Given the description of an element on the screen output the (x, y) to click on. 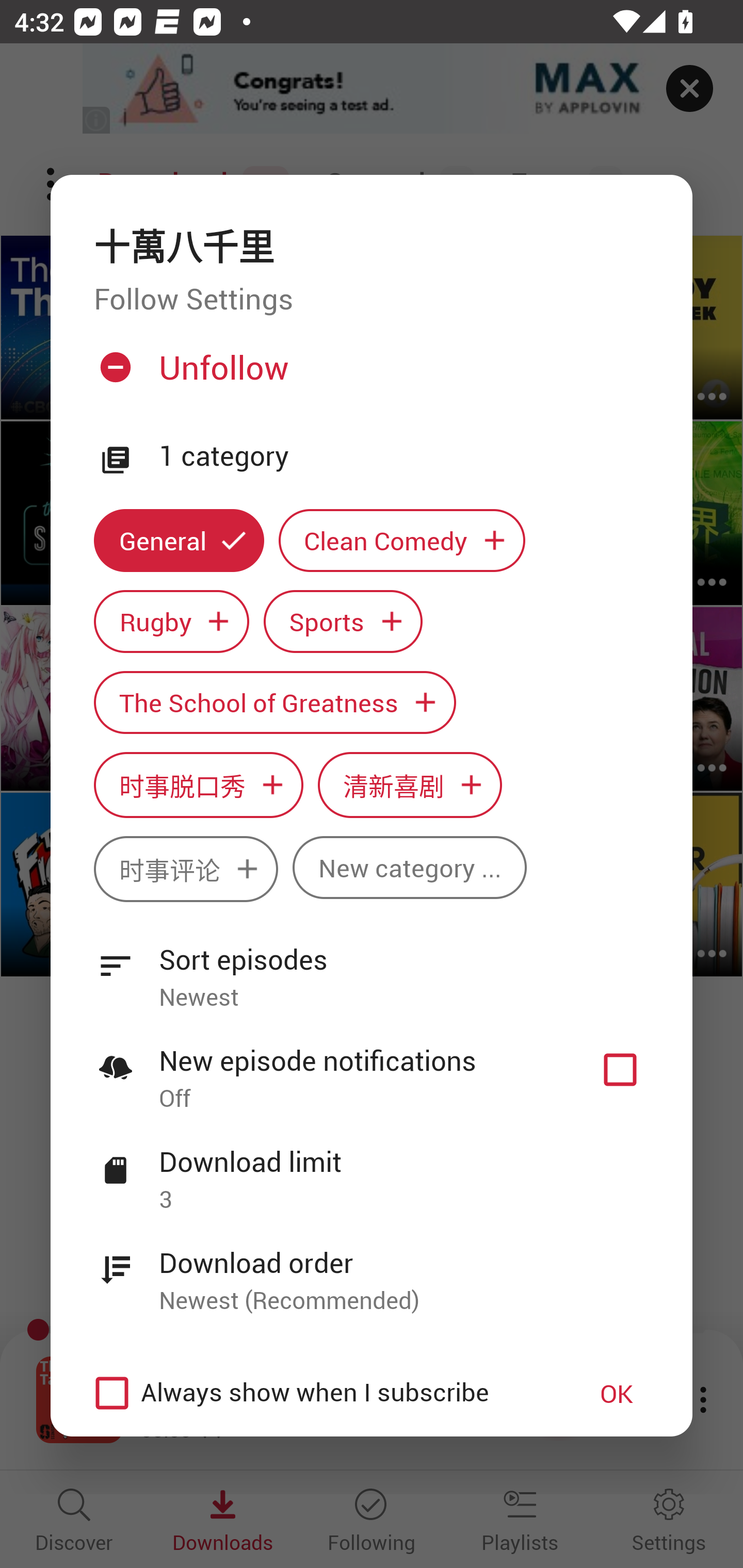
Unfollow (369, 374)
1 category (404, 455)
General (178, 540)
Clean Comedy (401, 540)
Rugby (170, 620)
Sports (342, 620)
The School of Greatness (274, 702)
时事脱口秀 (198, 785)
清新喜剧 (410, 785)
时事评论 (185, 868)
New category ... (409, 866)
Sort episodes Newest (371, 967)
New episode notifications (620, 1070)
Download limit 3 (371, 1168)
Download order Newest (Recommended) (371, 1269)
OK (616, 1393)
Always show when I subscribe (320, 1393)
